Given the description of an element on the screen output the (x, y) to click on. 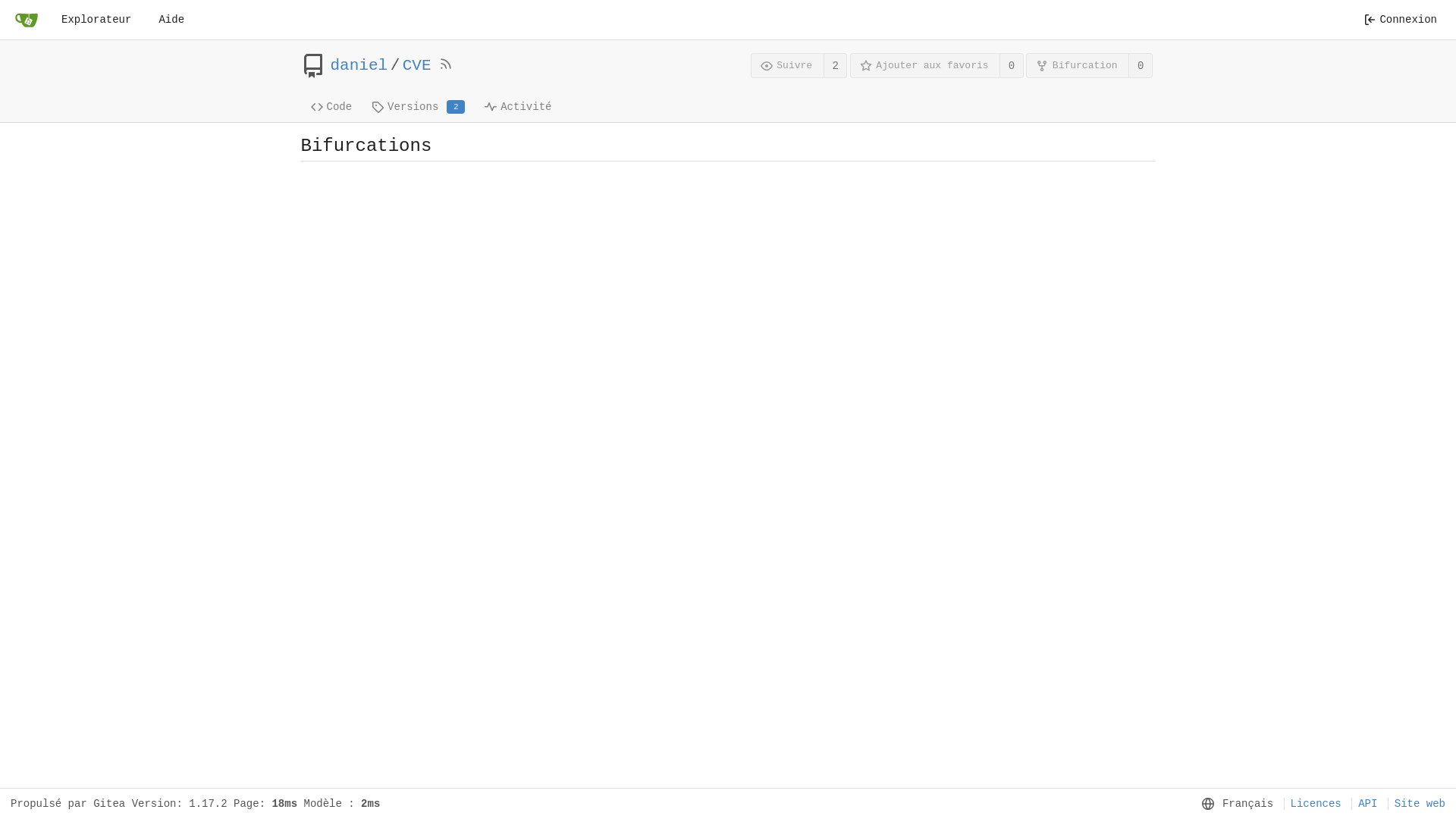
CVE Element type: text (416, 65)
Connexion Element type: text (1399, 19)
Versions
2 Element type: text (417, 106)
Bifurcation Element type: text (1077, 65)
API Element type: text (1364, 803)
Site web Element type: text (1416, 803)
Suivre Element type: text (787, 65)
Licences Element type: text (1312, 803)
0 Element type: text (1140, 65)
2 Element type: text (835, 65)
0 Element type: text (1011, 65)
Code Element type: text (330, 106)
daniel Element type: text (359, 65)
Explorateur Element type: text (96, 19)
Aide Element type: text (171, 19)
Ajouter aux favoris Element type: text (925, 65)
